Given the description of an element on the screen output the (x, y) to click on. 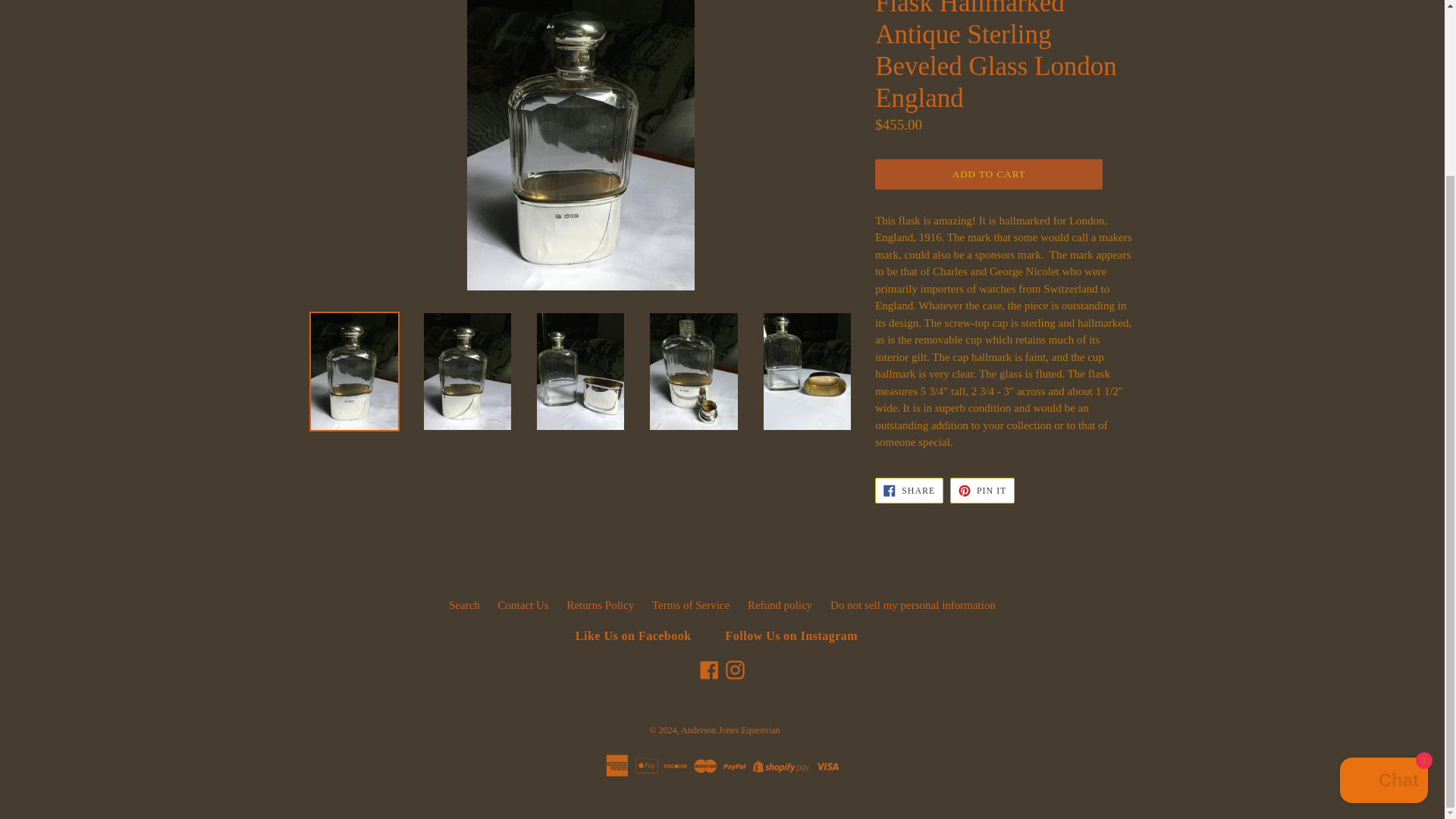
Pin on Pinterest (982, 490)
Anderson Jones Equestrian on Instagram (734, 669)
Share on Facebook (909, 490)
Anderson Jones Equestrian on Facebook (708, 669)
Shopify online store chat (1383, 567)
